Given the description of an element on the screen output the (x, y) to click on. 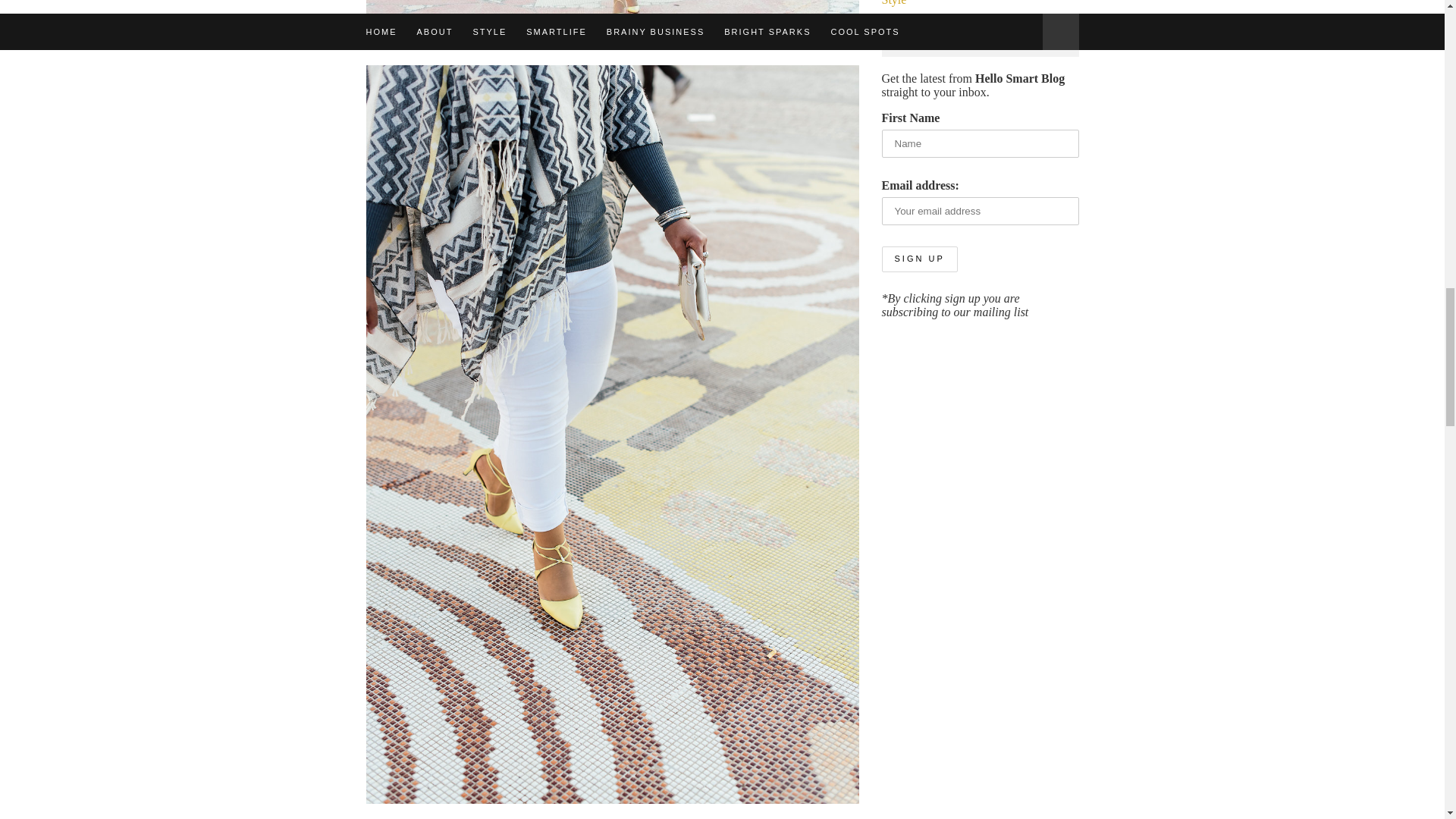
Sign up (918, 258)
